Given the description of an element on the screen output the (x, y) to click on. 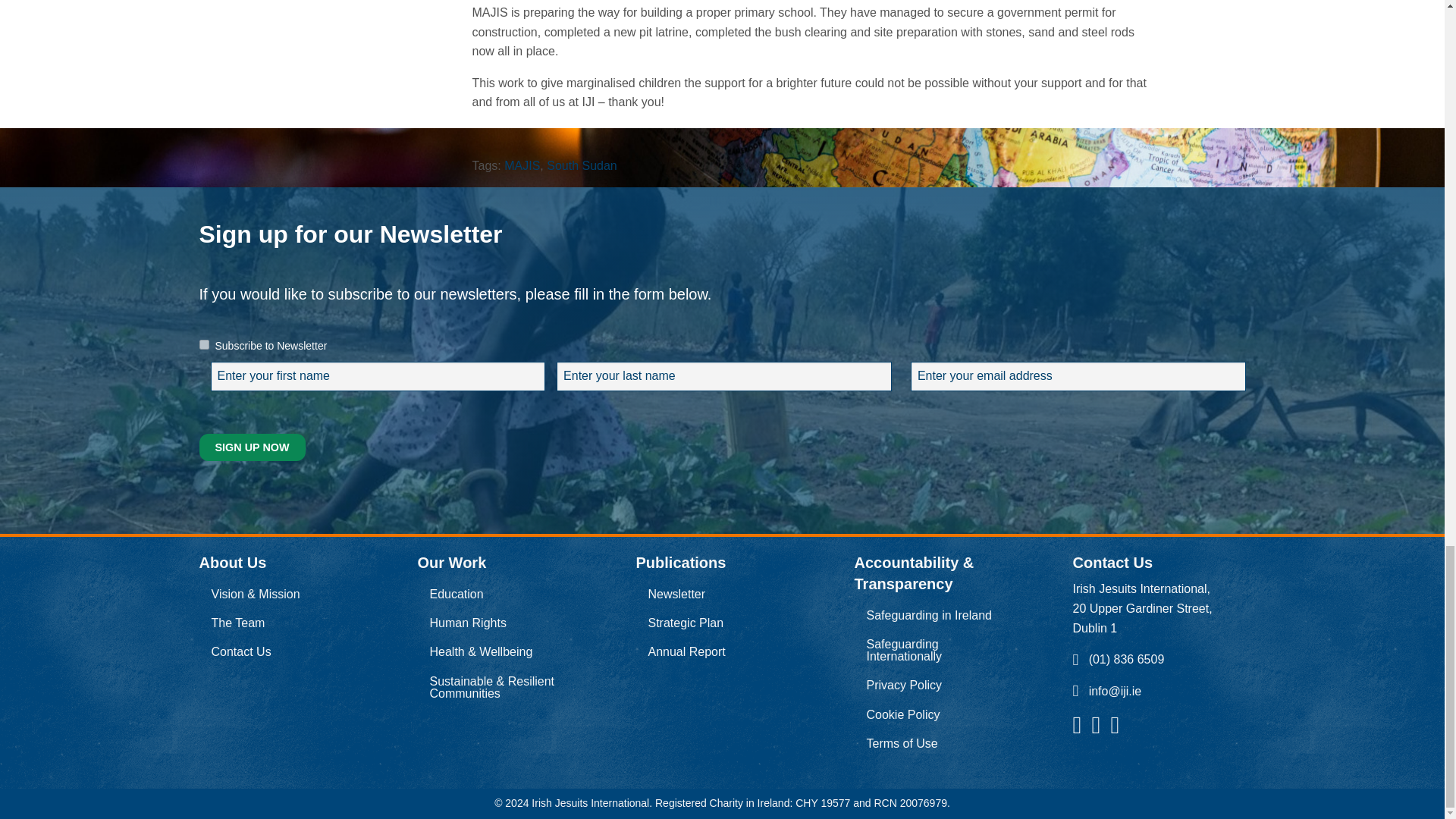
Sign Up Now (251, 447)
1 (203, 344)
